Given the description of an element on the screen output the (x, y) to click on. 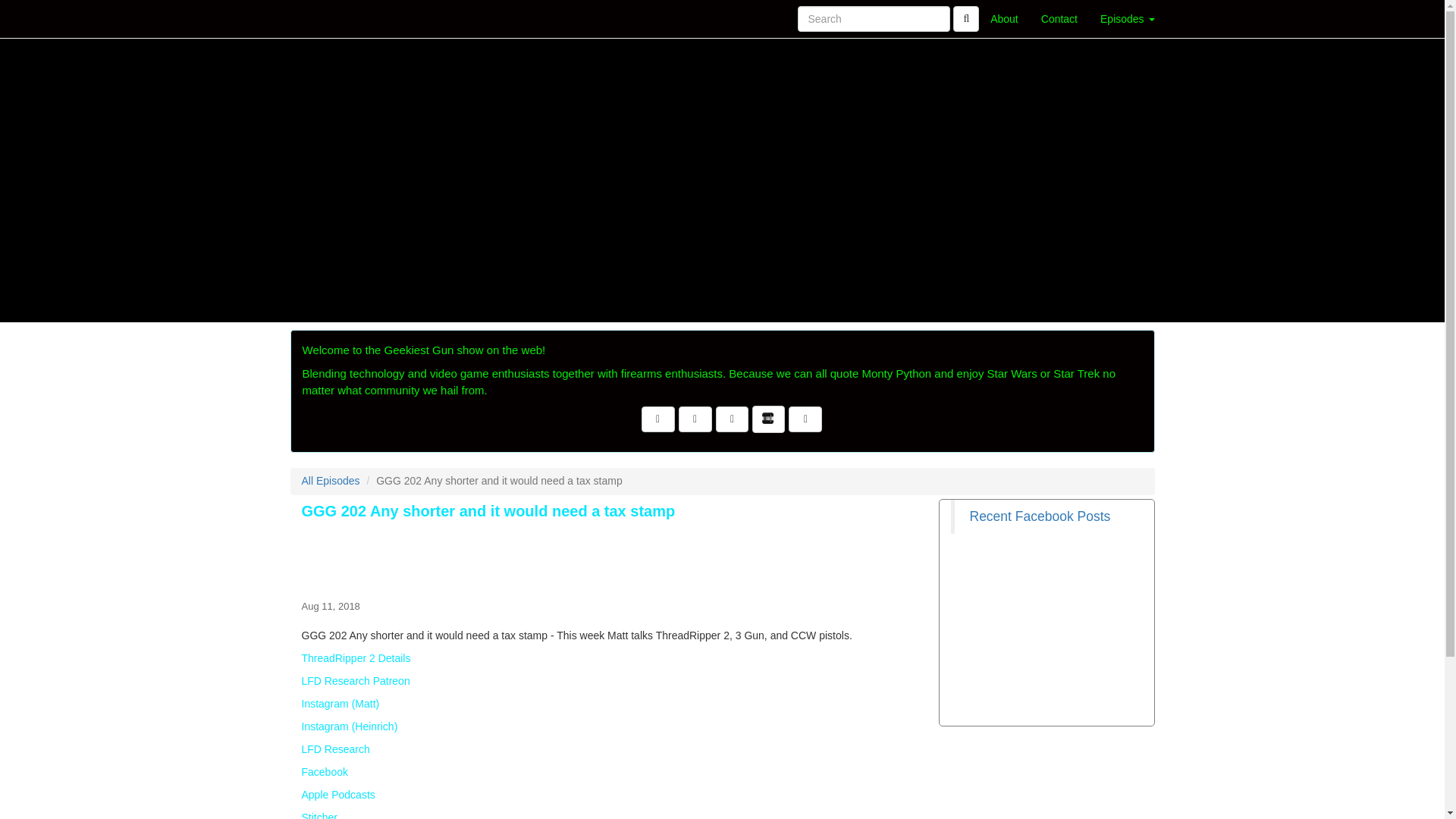
Contact (1059, 18)
Episodes (1127, 18)
Home Page (320, 18)
GGG 202 Any shorter and it would need a tax stamp (614, 557)
About (1003, 18)
